Given the description of an element on the screen output the (x, y) to click on. 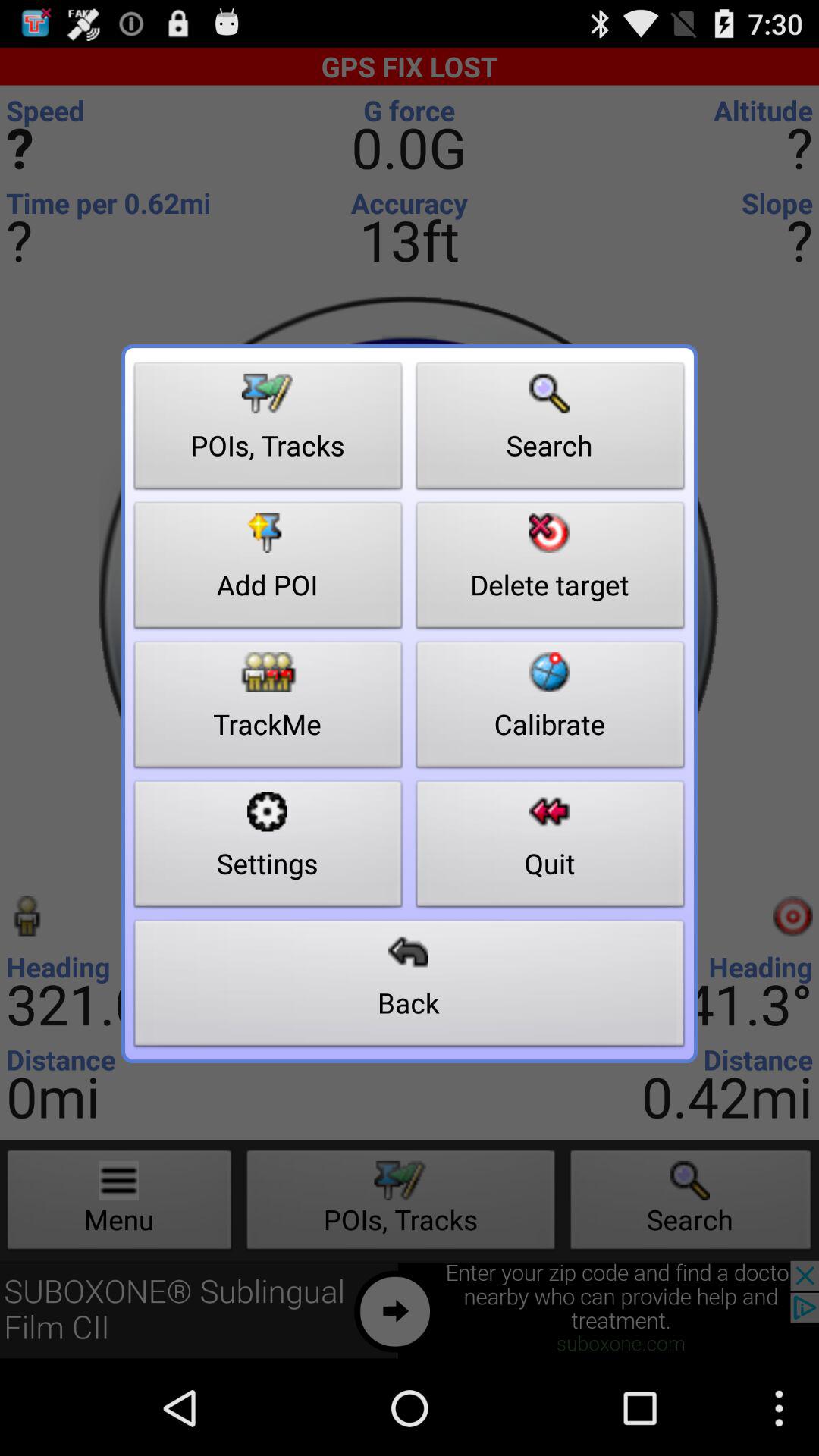
tap the search (550, 429)
